Given the description of an element on the screen output the (x, y) to click on. 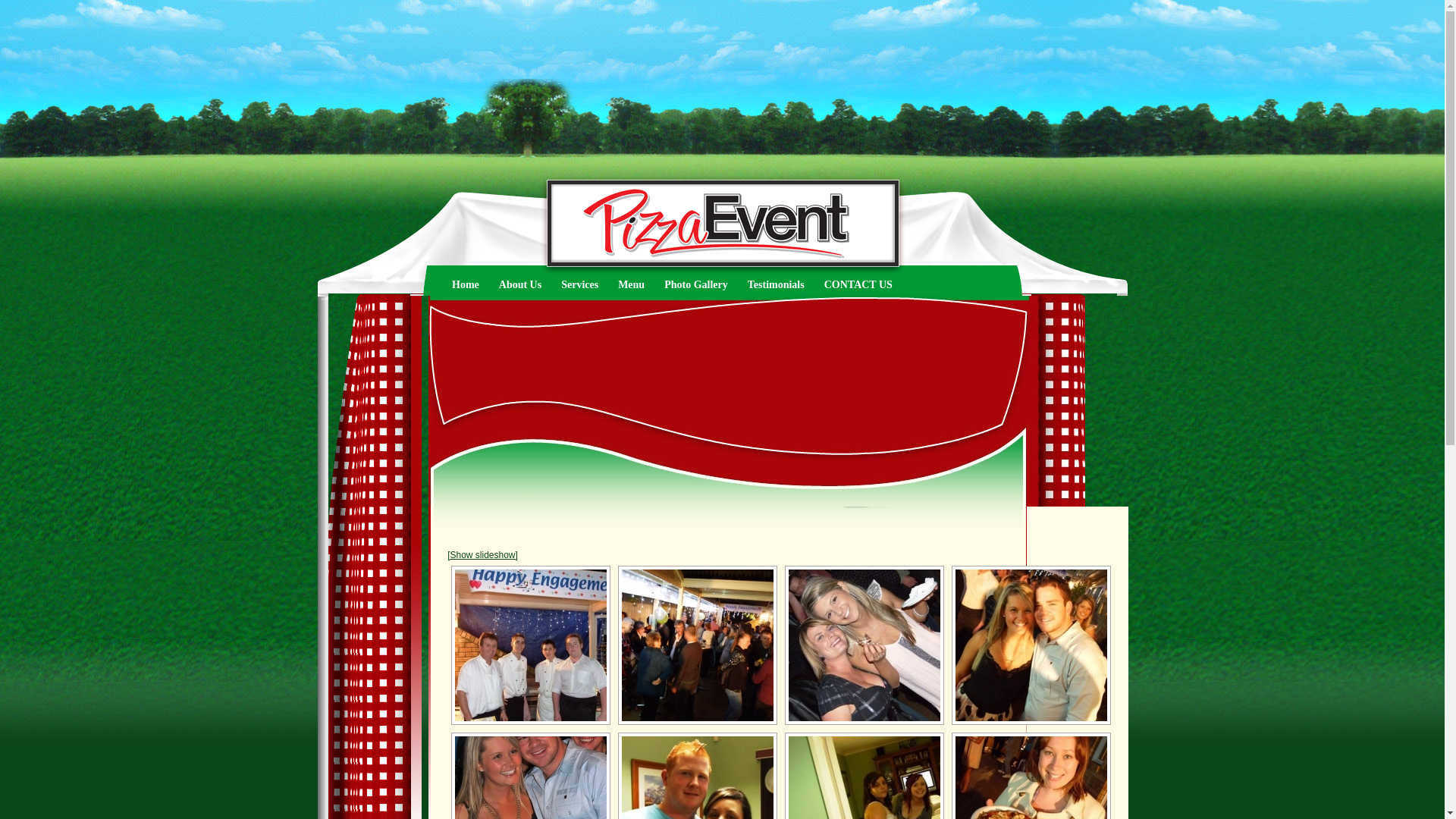
Home Element type: text (465, 284)
About Us Element type: text (519, 284)
CONTACT US Element type: text (858, 284)
[Show slideshow] Element type: text (482, 554)
Pizza Event. Party Central Element type: hover (697, 645)
Marco's Mobile Pizza Team Element type: hover (530, 645)
Pizza Event Party Central Element type: hover (864, 645)
Services Element type: text (579, 284)
Emma & Tim's Engagement. Lovely Couple Element type: hover (1031, 645)
Testimonials Element type: text (775, 284)
Photo Gallery Element type: text (696, 284)
Menu Element type: text (631, 284)
